Given the description of an element on the screen output the (x, y) to click on. 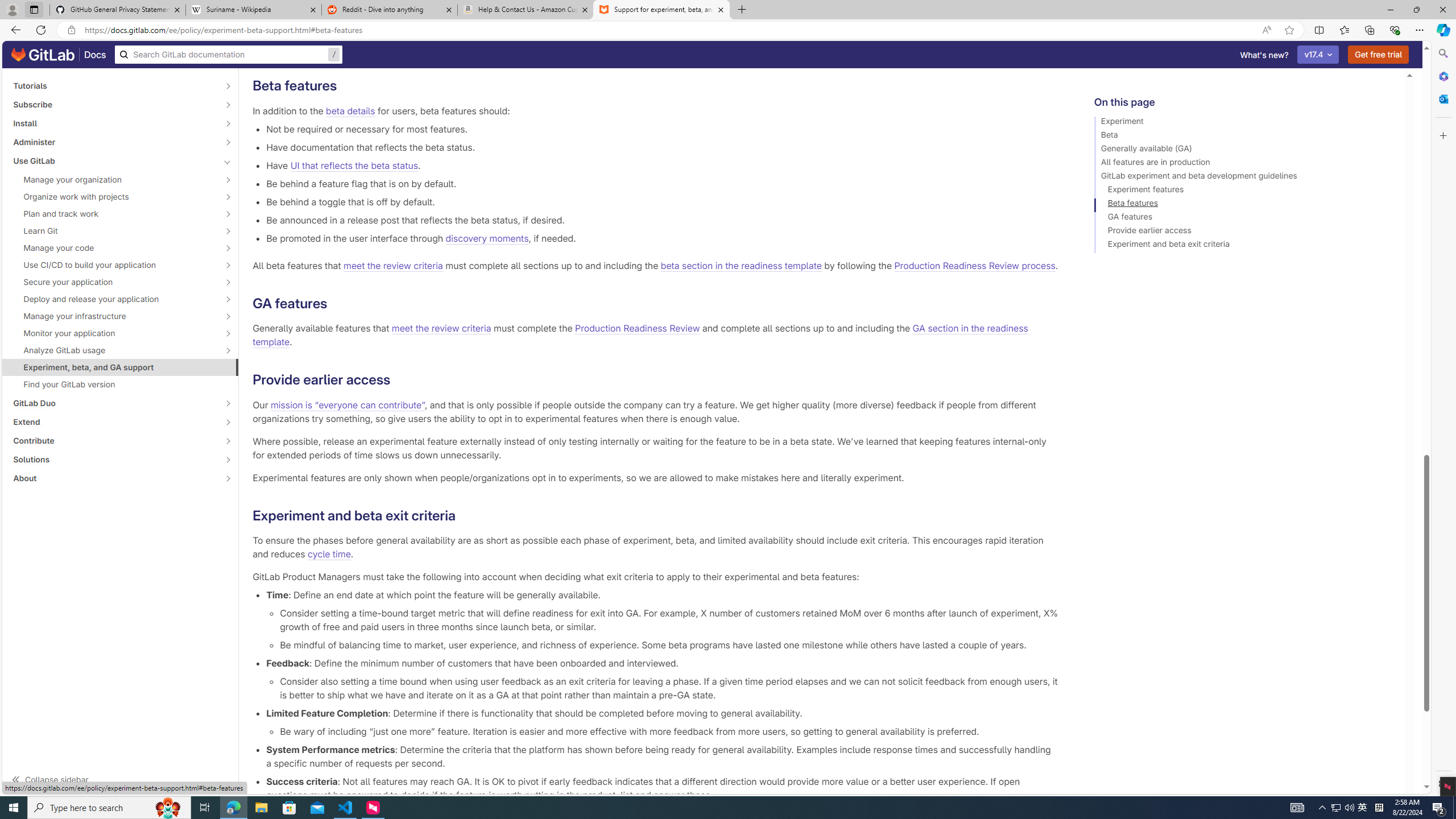
Administer (113, 141)
GitLab documentation home Docs (58, 53)
Generally available (GA) (1244, 150)
GitHub General Privacy Statement - GitHub Docs (117, 9)
UI that reflects the beta status (353, 164)
GitLab documentation home (42, 54)
GitLab experiment and beta development guidelines (1244, 177)
initiate Production Readiness Review (583, 47)
Use GitLab (113, 160)
